Given the description of an element on the screen output the (x, y) to click on. 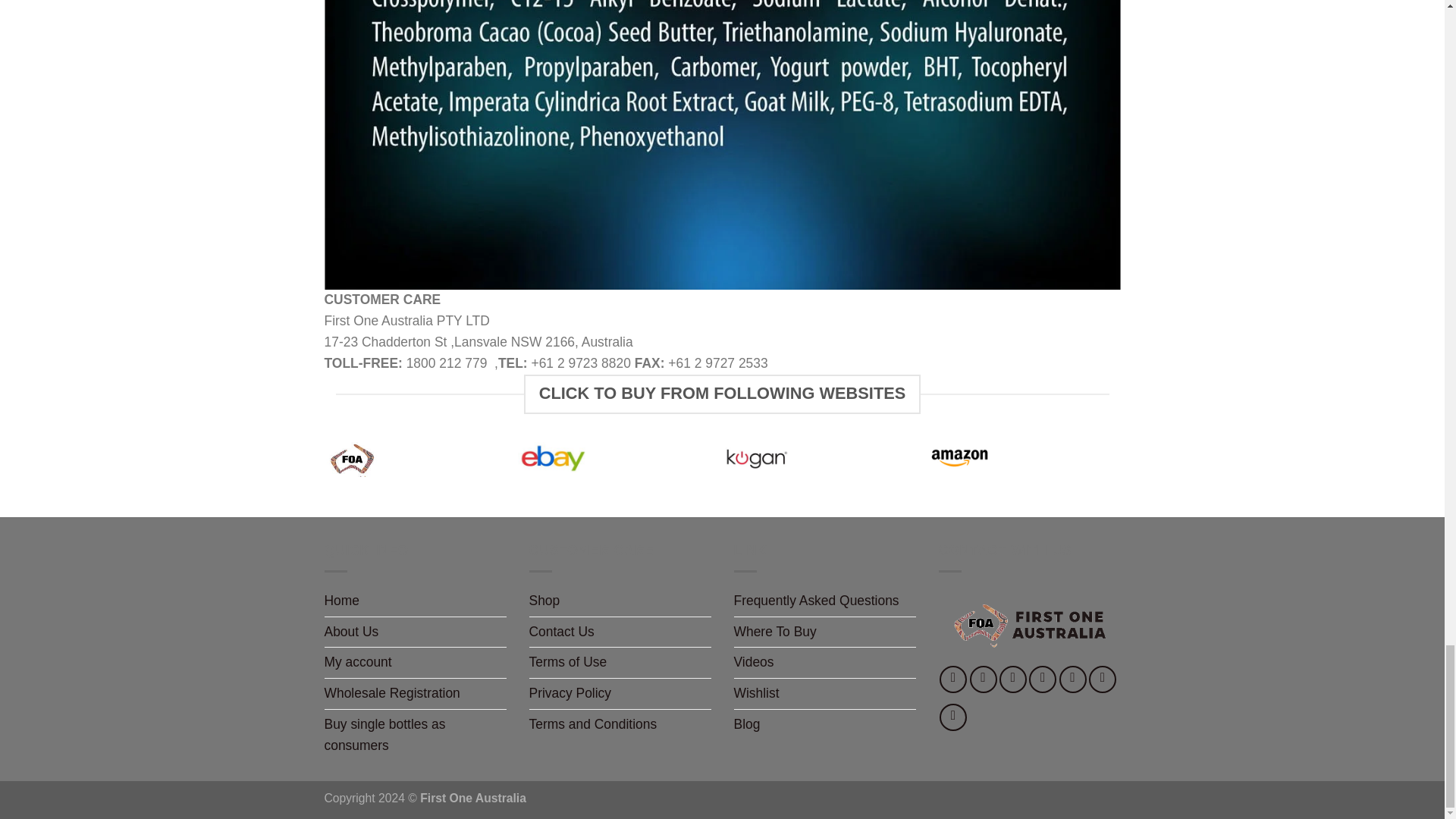
First One Australia (1027, 625)
First One Australia (1028, 625)
